Given the description of an element on the screen output the (x, y) to click on. 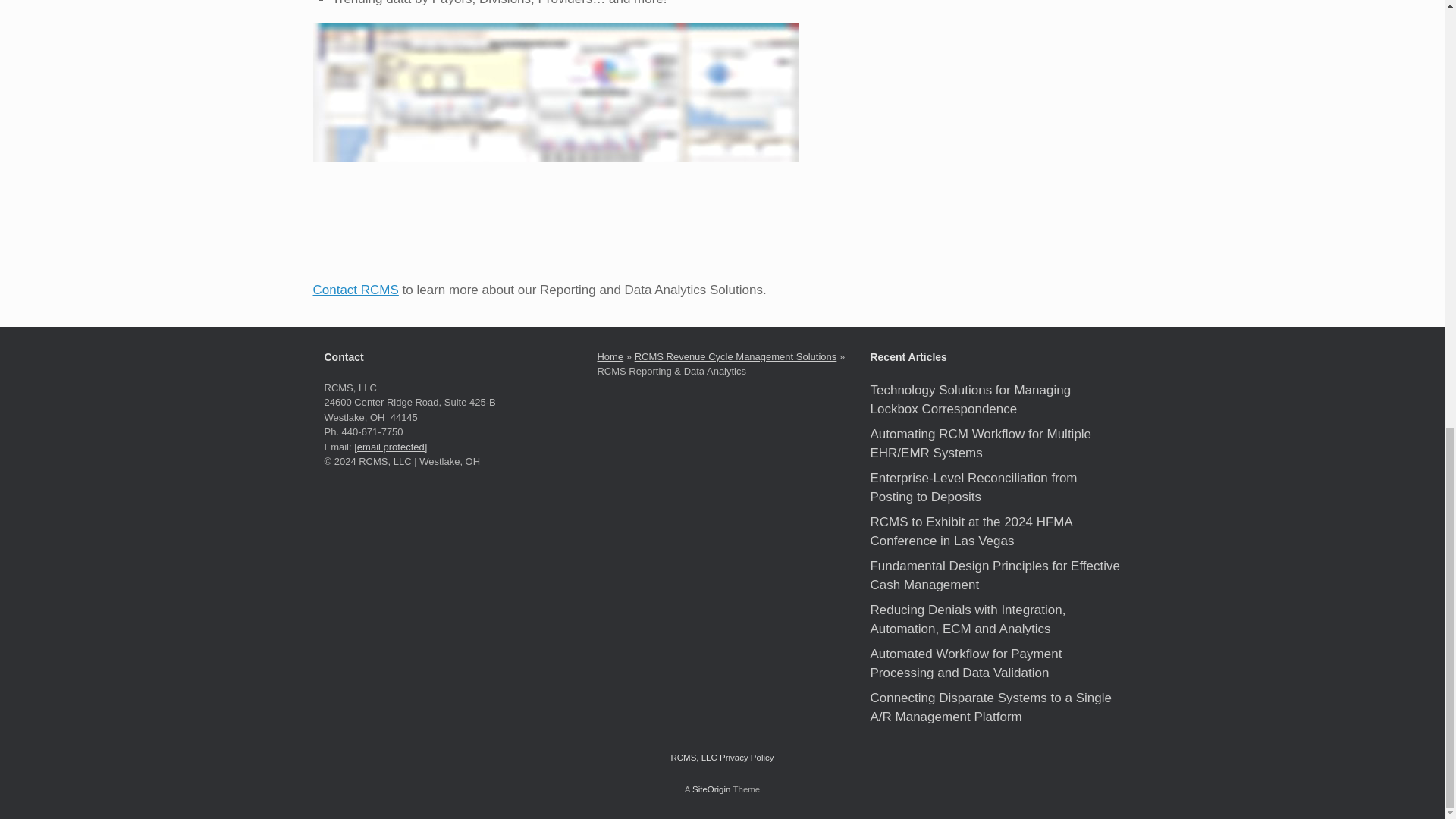
RCMS Revenue Cycle Management Solutions (735, 356)
RCMS Revenue Cycle Management Solutions (735, 356)
Technology Solutions for Managing Lockbox Correspondence (969, 399)
Home (609, 356)
Home (609, 356)
Contact RCMS (355, 289)
